Given the description of an element on the screen output the (x, y) to click on. 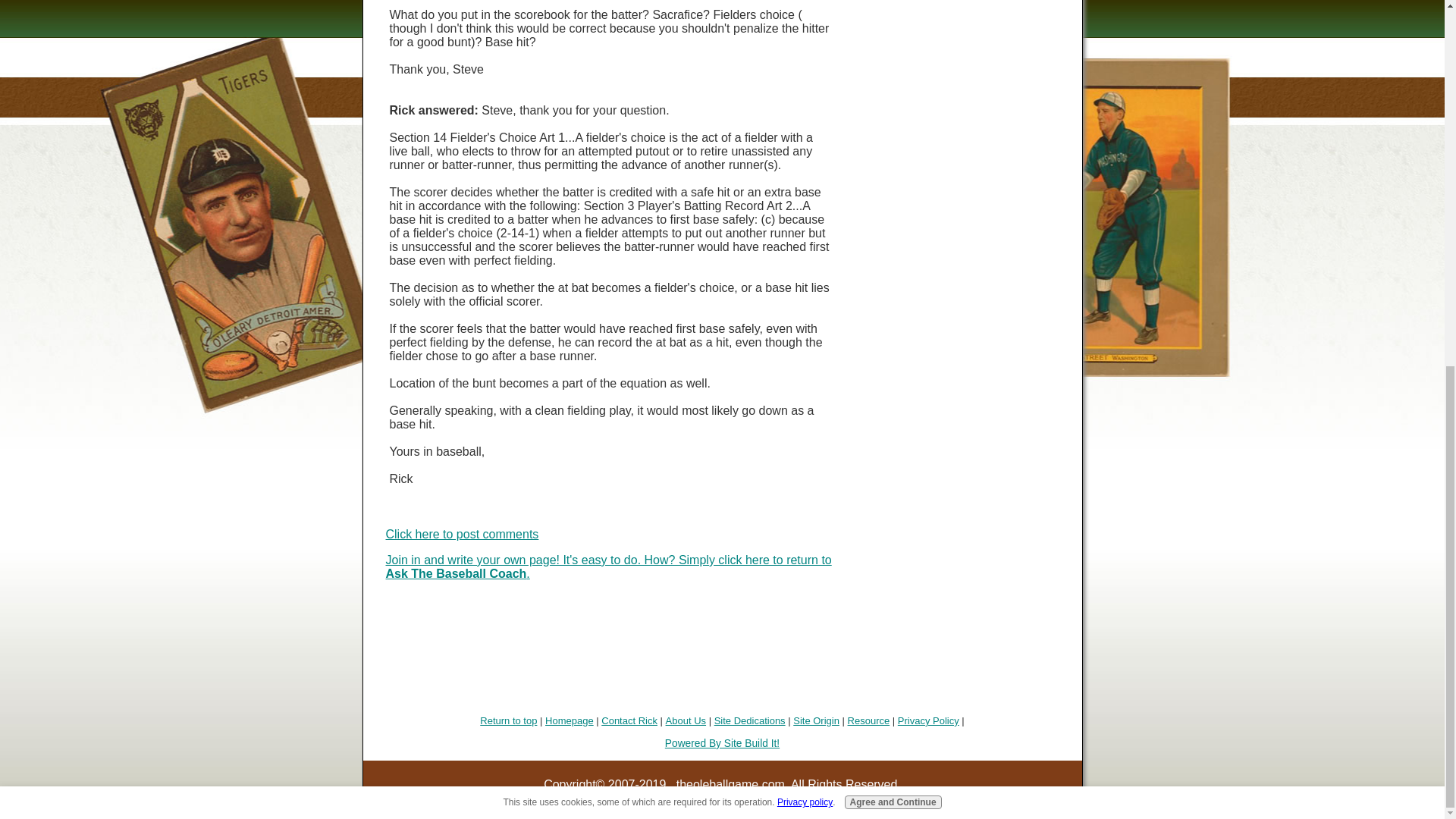
Contact Rick (629, 720)
Return to top (508, 720)
Resource (868, 720)
Site Origin (816, 720)
Homepage (569, 720)
Powered By Site Build It! (721, 743)
Site Dedications (750, 720)
Click here to post comments (461, 533)
Privacy Policy (928, 720)
